Given the description of an element on the screen output the (x, y) to click on. 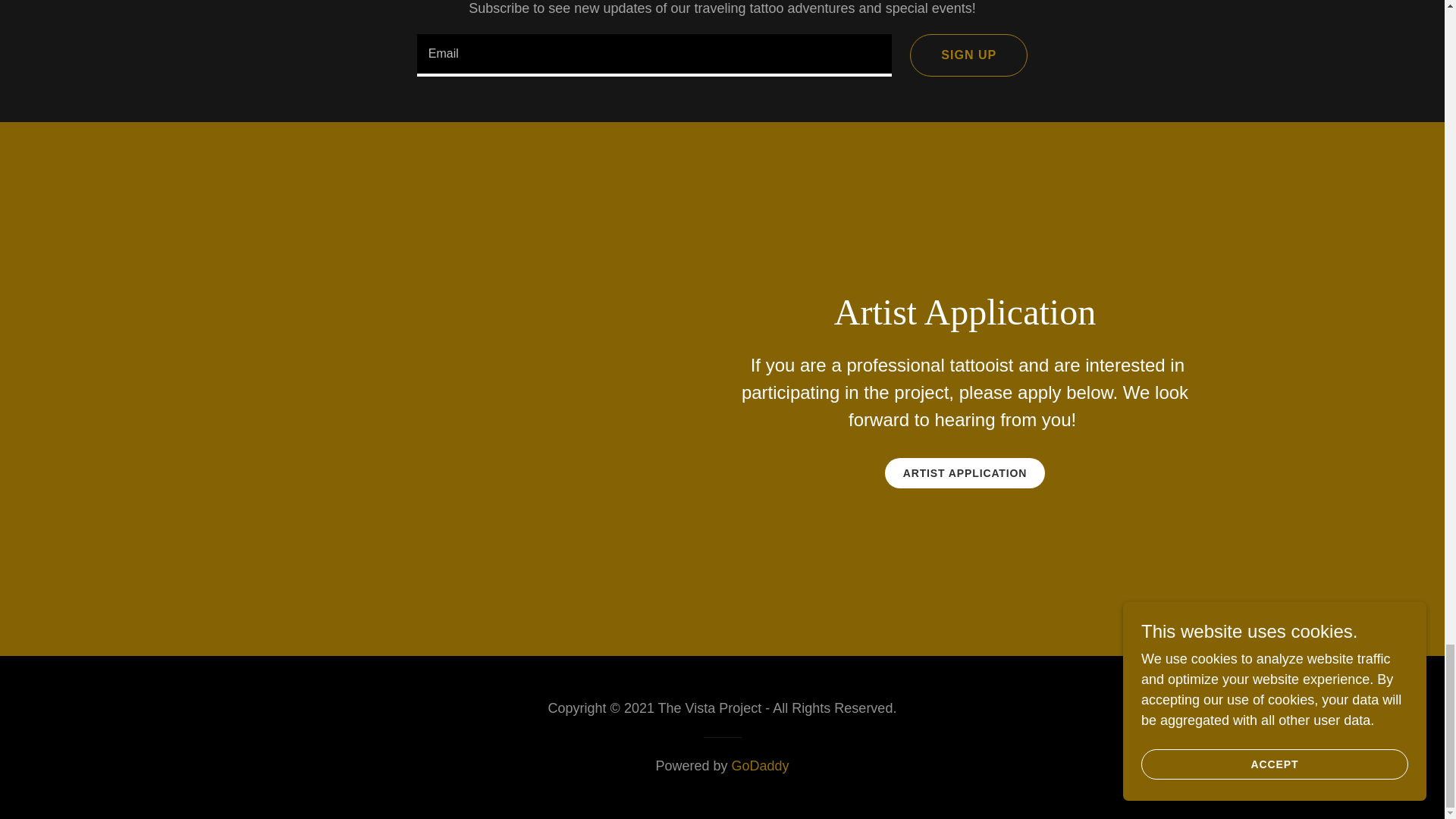
SIGN UP (968, 55)
GoDaddy (759, 765)
ARTIST APPLICATION (965, 472)
